Given the description of an element on the screen output the (x, y) to click on. 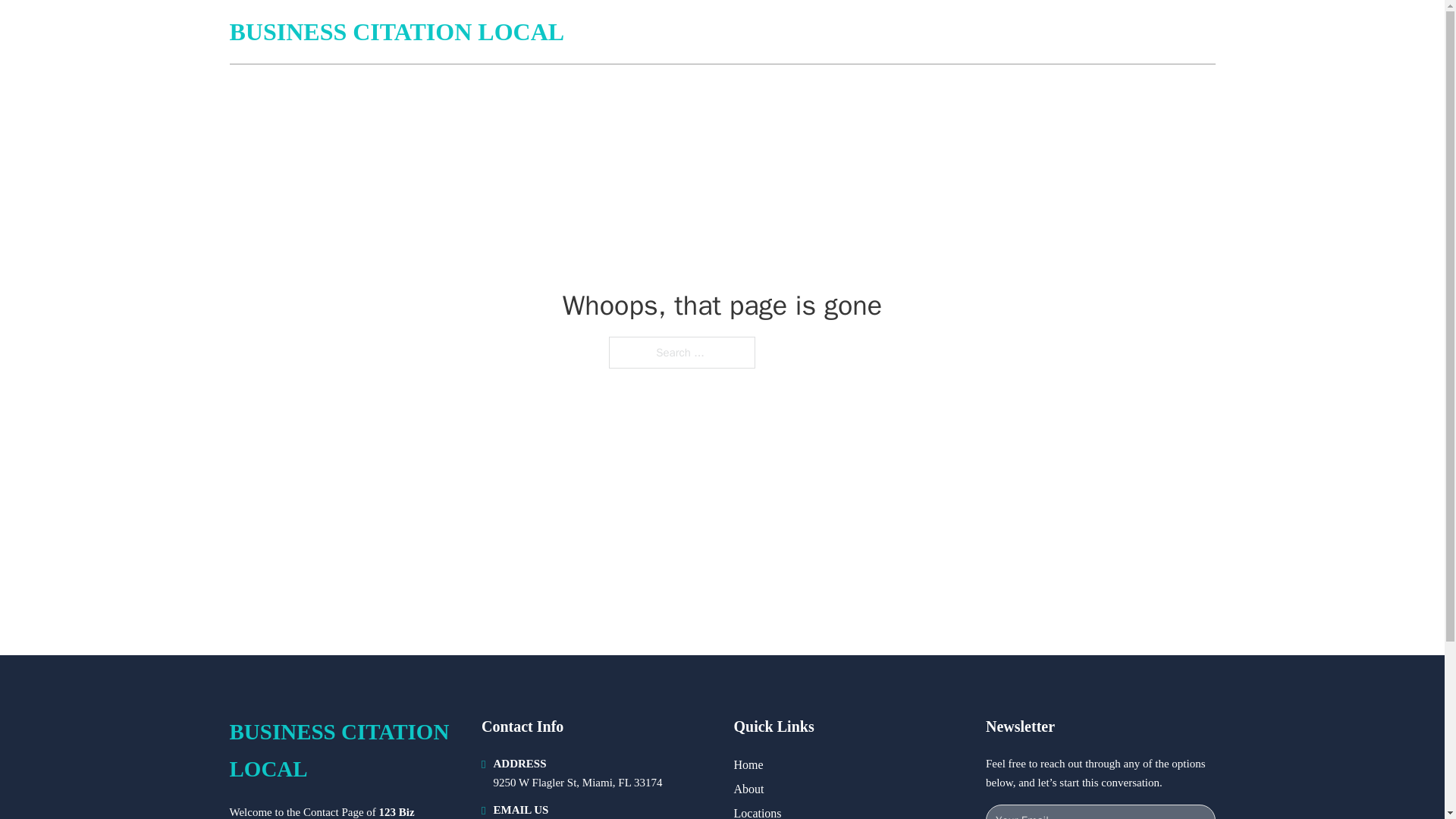
Home (747, 764)
About (748, 788)
BUSINESS CITATION LOCAL (396, 31)
BUSINESS CITATION LOCAL (343, 750)
HOME (1032, 31)
LOCATIONS (1105, 31)
Locations (757, 811)
